Given the description of an element on the screen output the (x, y) to click on. 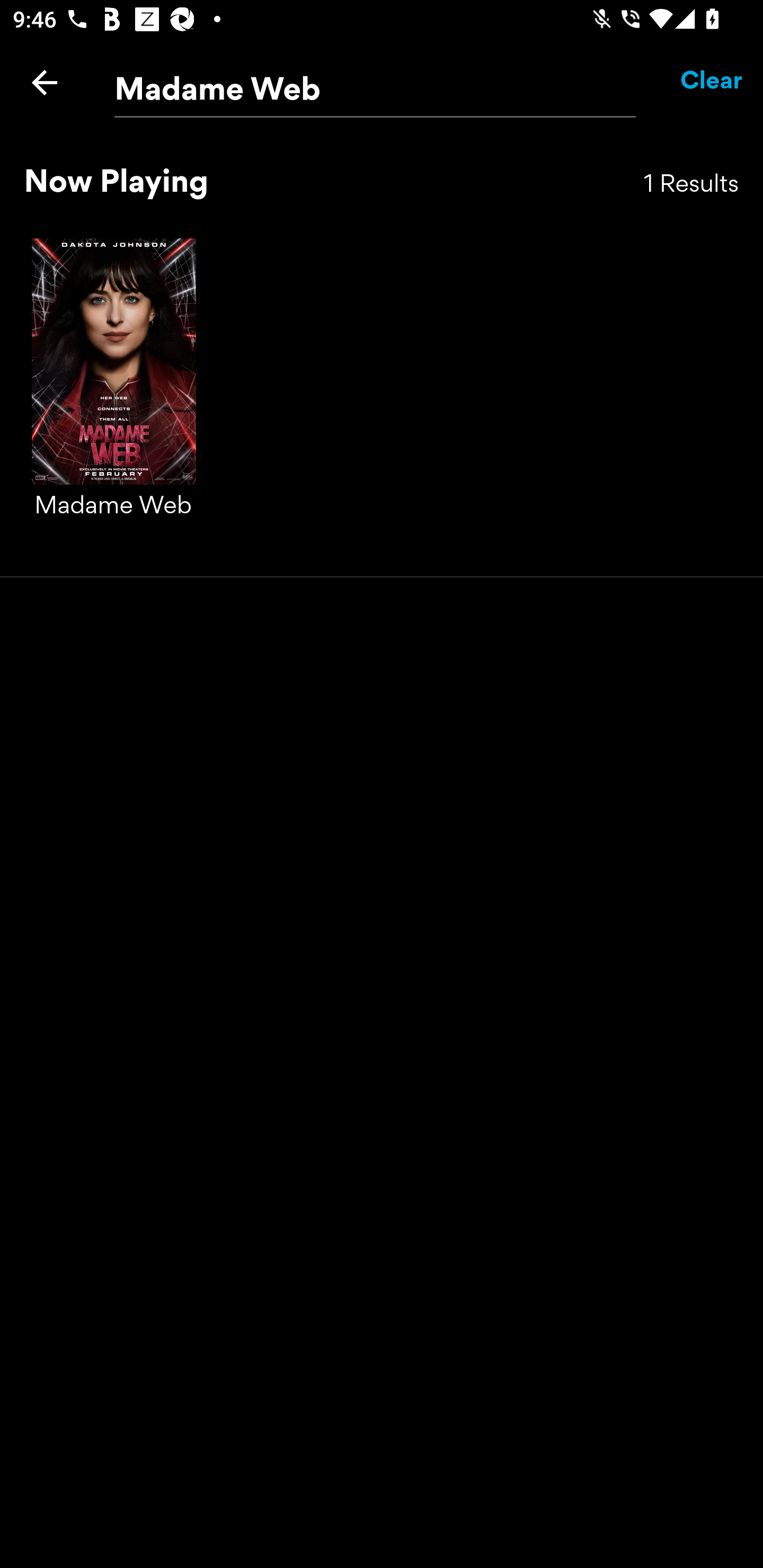
Back (44, 82)
Clear (712, 82)
Madame Web (374, 82)
Madame Web (114, 397)
